Given the description of an element on the screen output the (x, y) to click on. 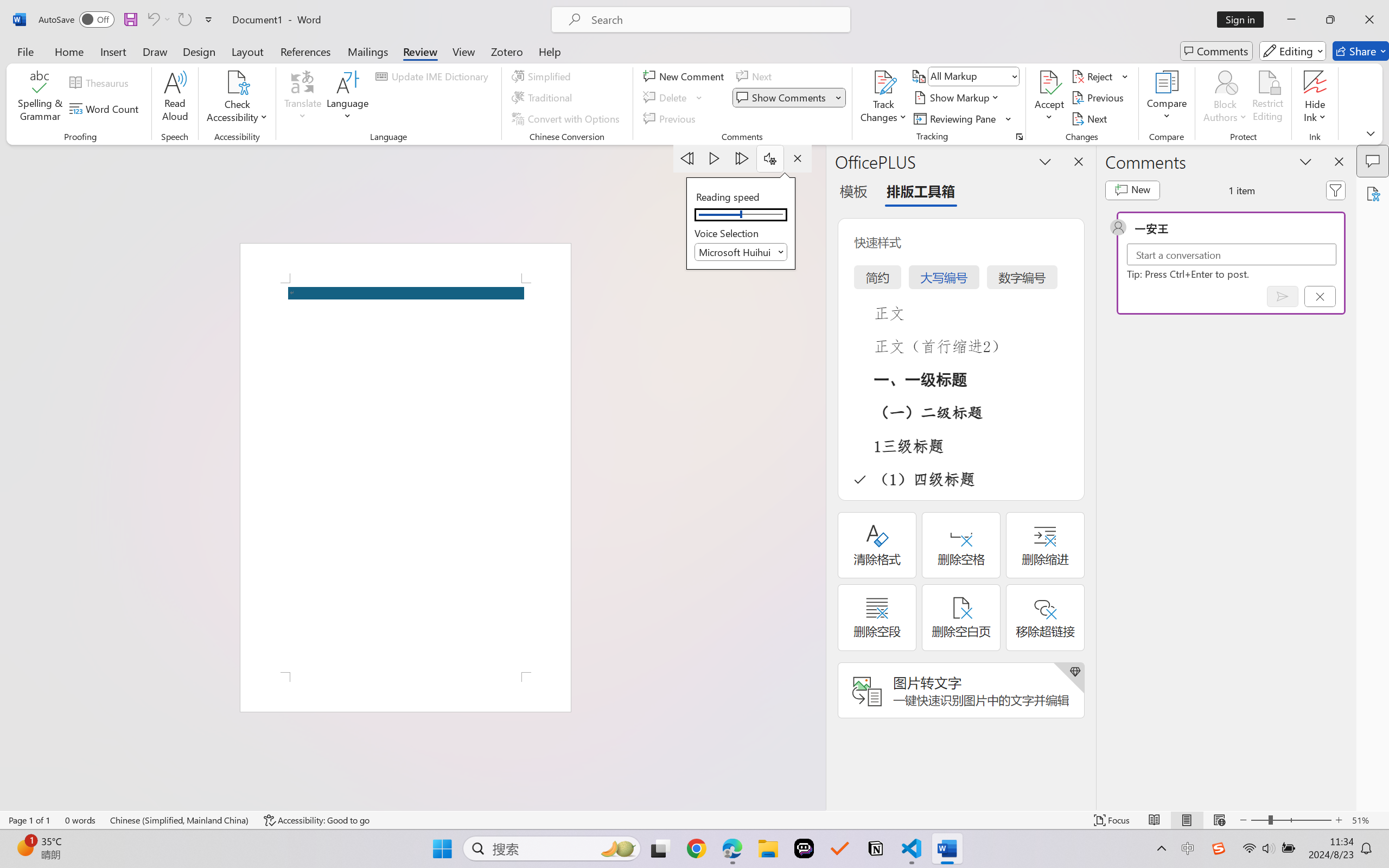
Block Authors (1224, 97)
Reject (1100, 75)
Show Comments (782, 97)
Delete (673, 97)
Spelling & Grammar (39, 97)
Change Tracking Options... (1019, 136)
Convert with Options... (567, 118)
